Given the description of an element on the screen output the (x, y) to click on. 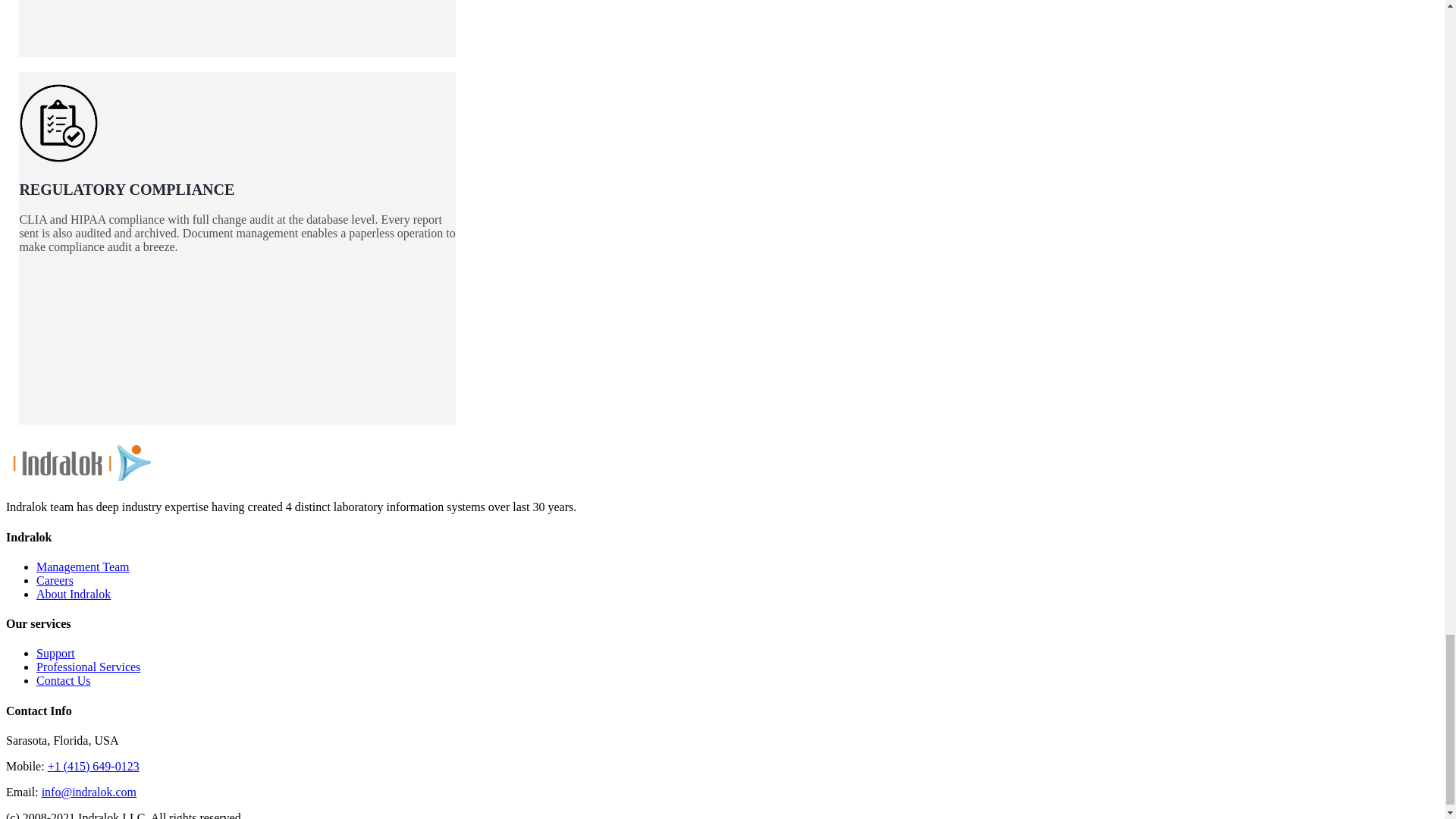
Management Team (82, 566)
Careers (55, 580)
Support (55, 653)
Contact Us (63, 680)
About Indralok (73, 594)
Professional Services (87, 666)
